Given the description of an element on the screen output the (x, y) to click on. 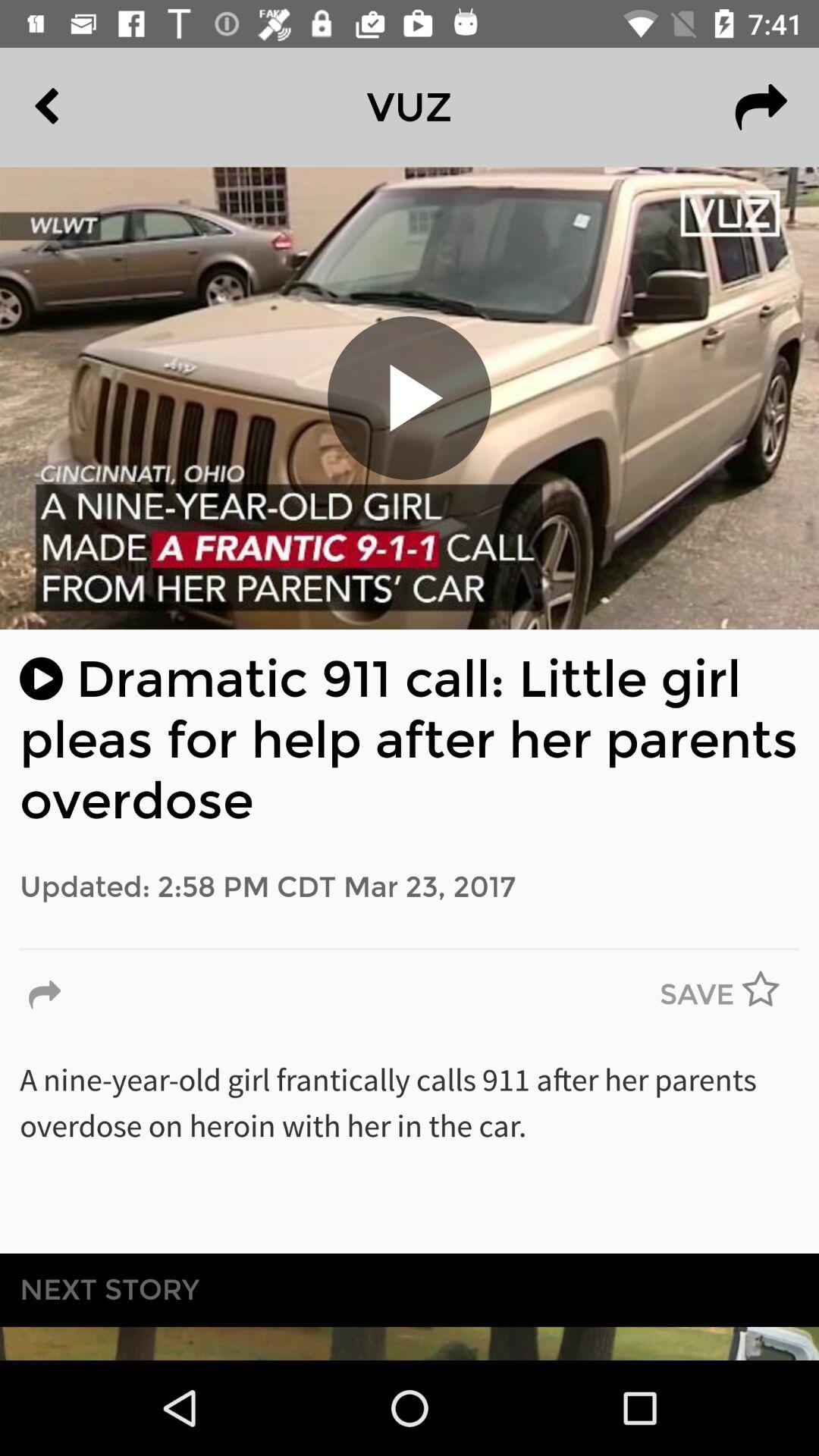
turn off item to the right of the save icon (770, 995)
